Given the description of an element on the screen output the (x, y) to click on. 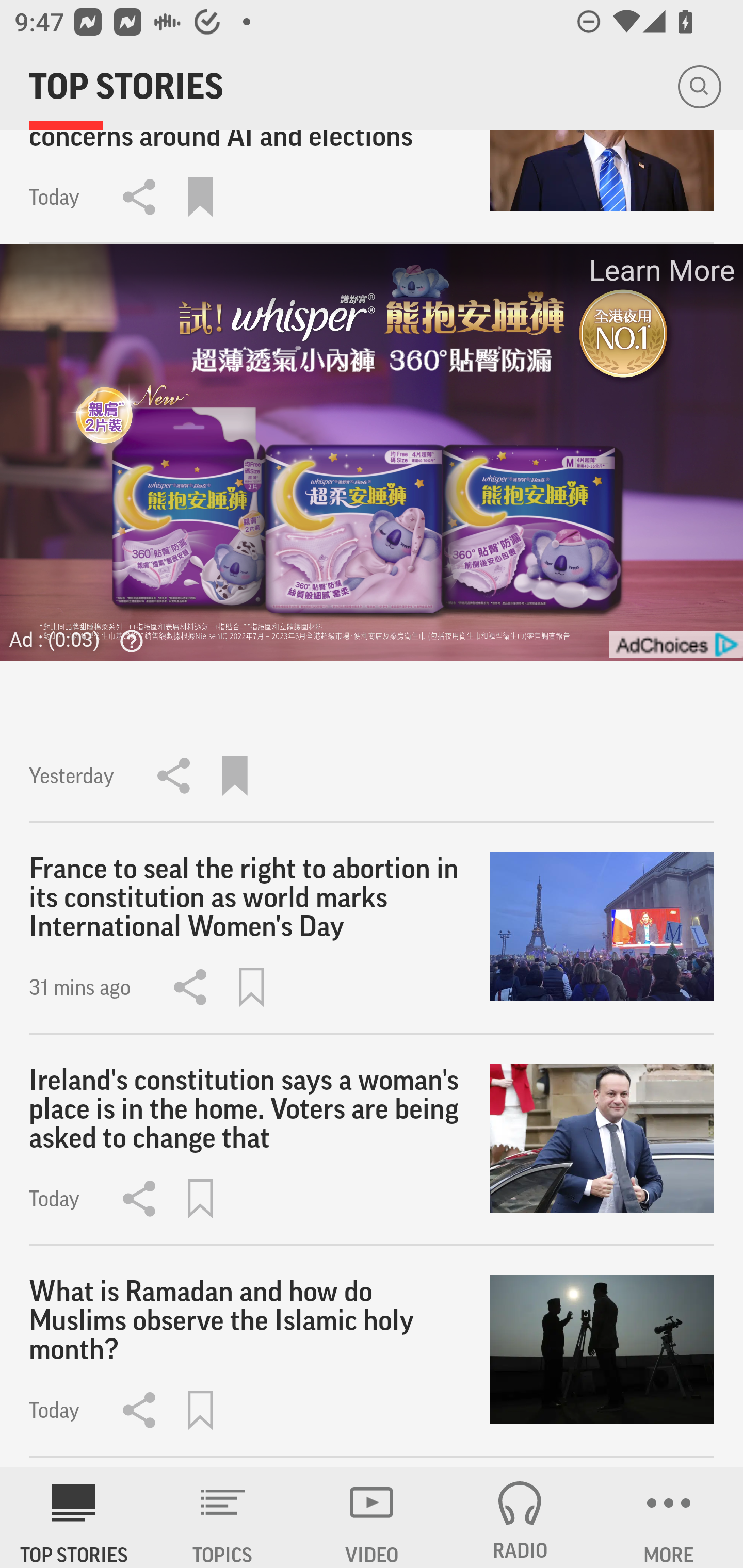
Learn More (660, 270)
Ad : (0:03) Why This Ad? (82, 638)
Why This Ad? (126, 640)
get?name=admarker-full-tl (675, 645)
AP News TOP STORIES (74, 1517)
TOPICS (222, 1517)
VIDEO (371, 1517)
RADIO (519, 1517)
MORE (668, 1517)
